Given the description of an element on the screen output the (x, y) to click on. 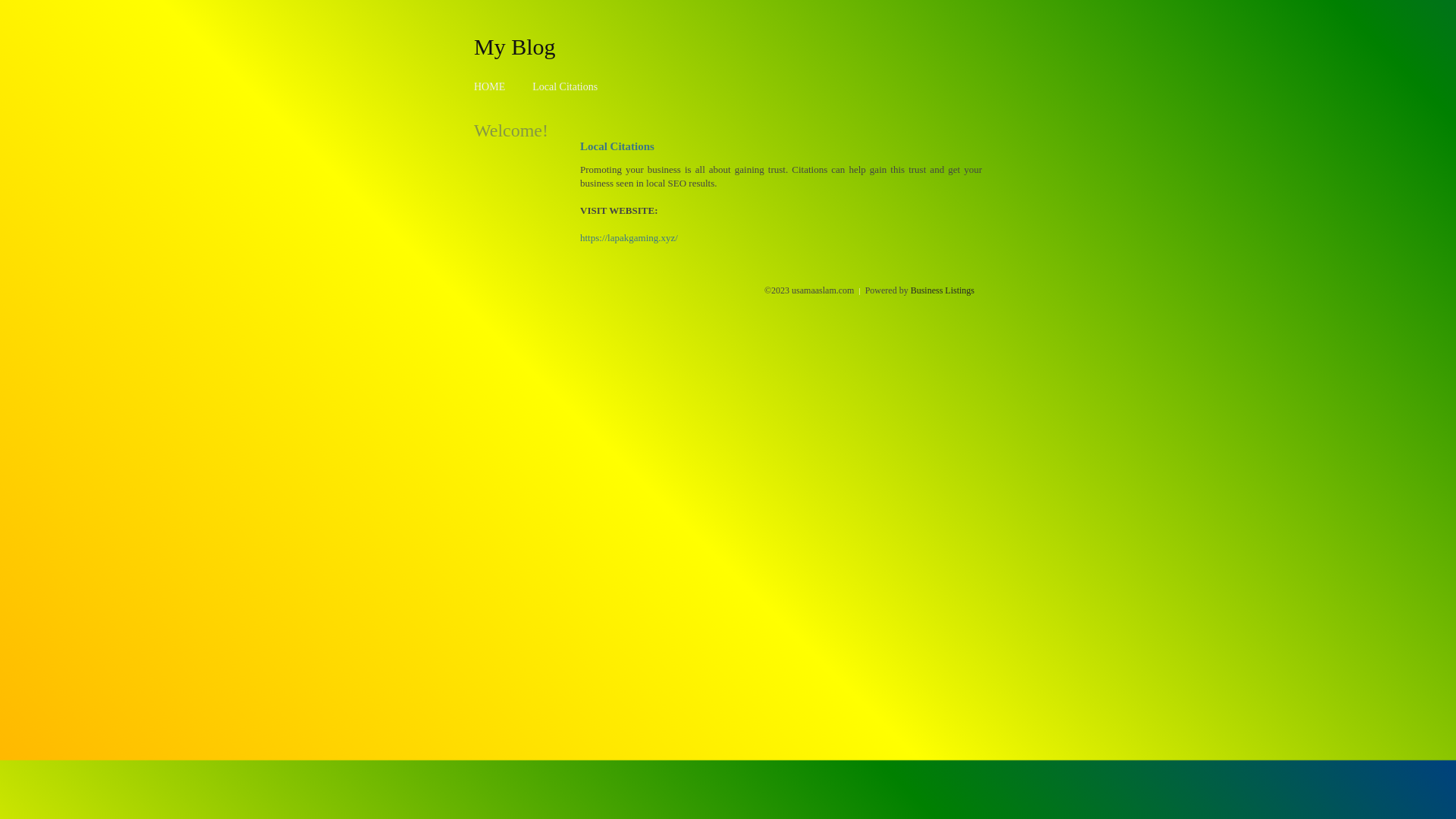
Business Listings Element type: text (942, 290)
HOME Element type: text (489, 86)
https://lapakgaming.xyz/ Element type: text (628, 237)
My Blog Element type: text (514, 46)
Local Citations Element type: text (564, 86)
